Given the description of an element on the screen output the (x, y) to click on. 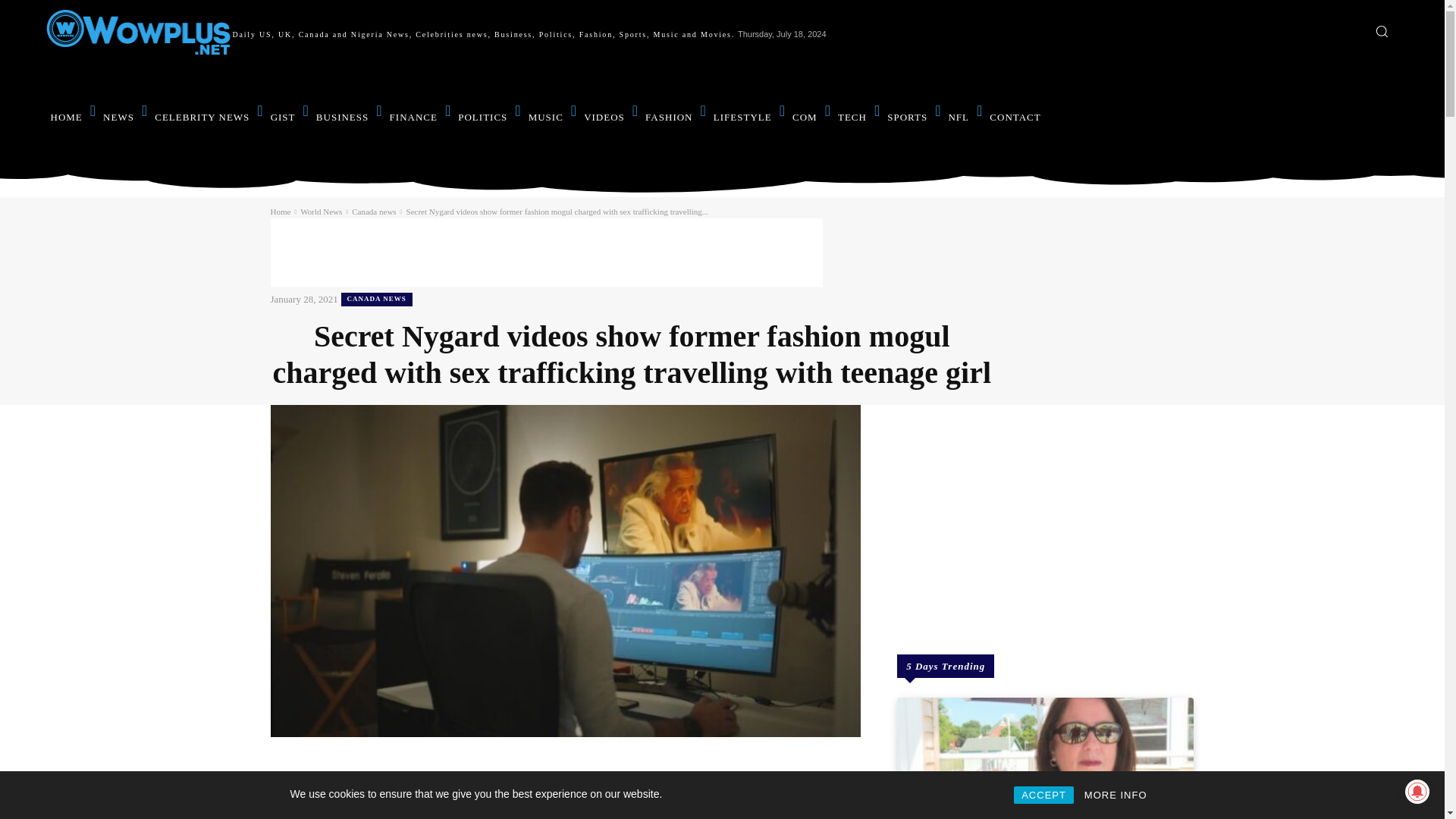
ACCEPT (1043, 794)
MORE INFO (1115, 794)
